Given the description of an element on the screen output the (x, y) to click on. 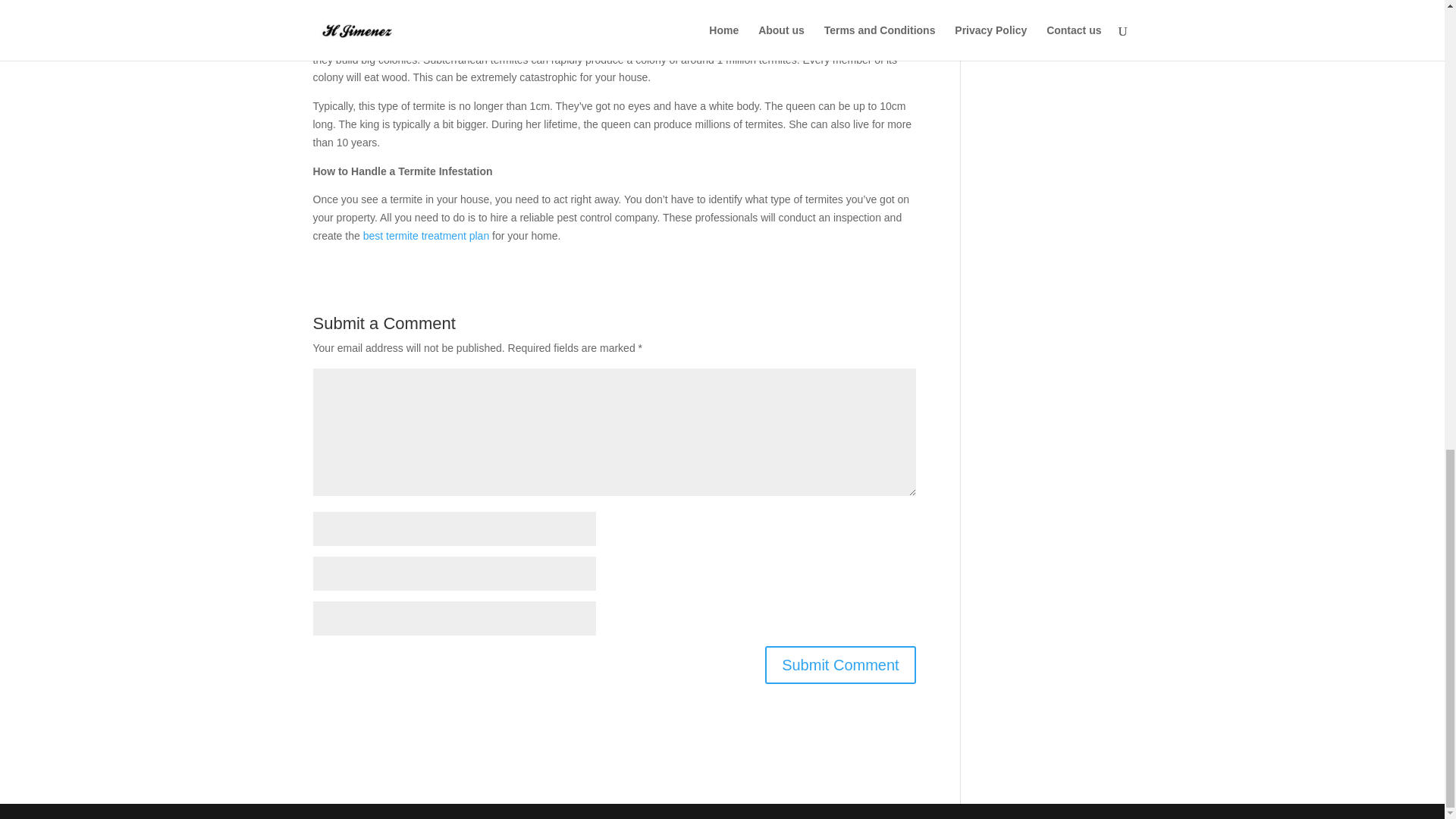
Submit Comment (840, 664)
Submit Comment (840, 664)
best termite treatment plan (425, 235)
